Given the description of an element on the screen output the (x, y) to click on. 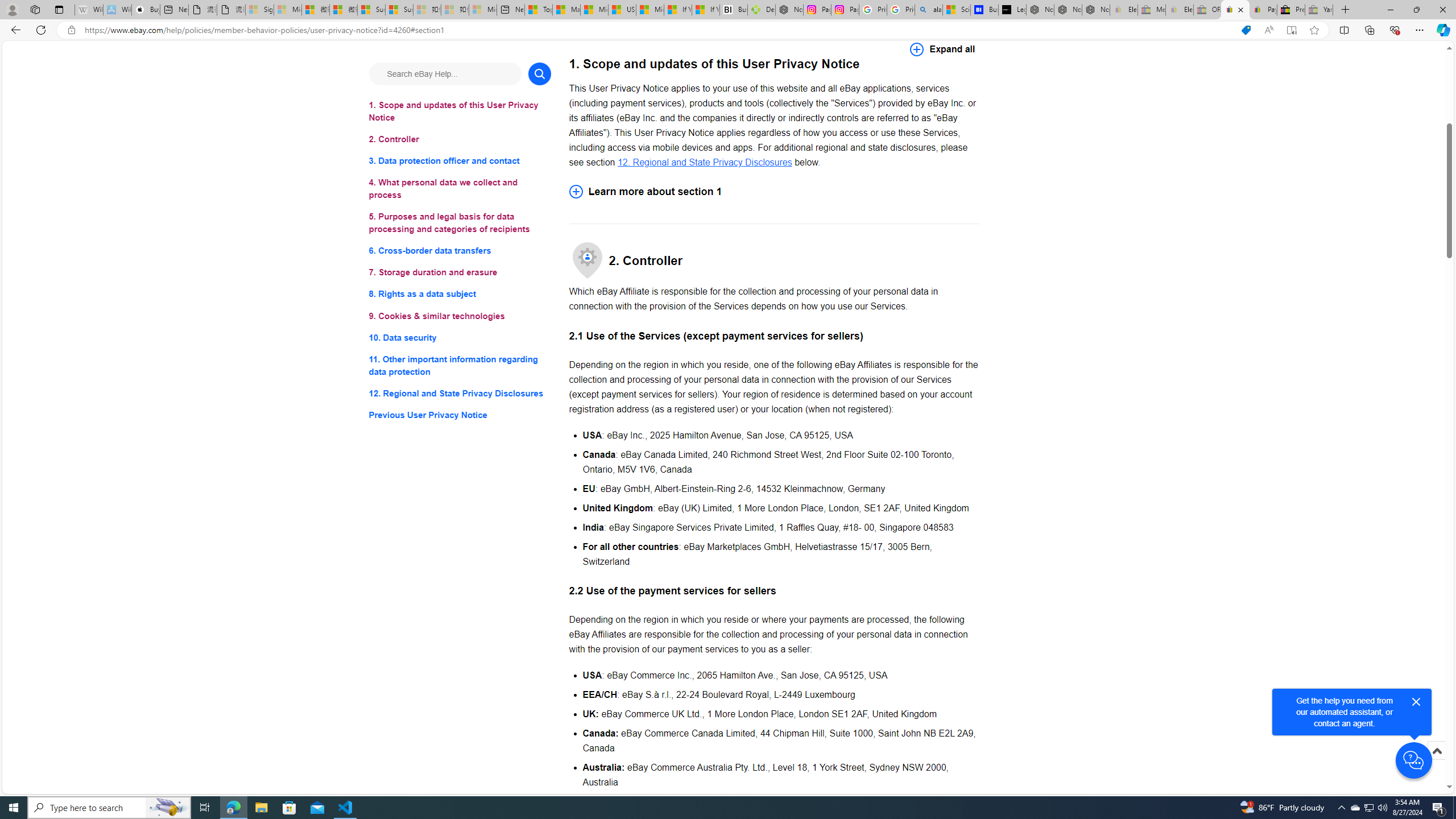
Sign in to your Microsoft account - Sleeping (259, 9)
9. Cookies & similar technologies (459, 315)
User Privacy Notice | eBay (1235, 9)
Yard, Garden & Outdoor Living - Sleeping (1319, 9)
